Given the description of an element on the screen output the (x, y) to click on. 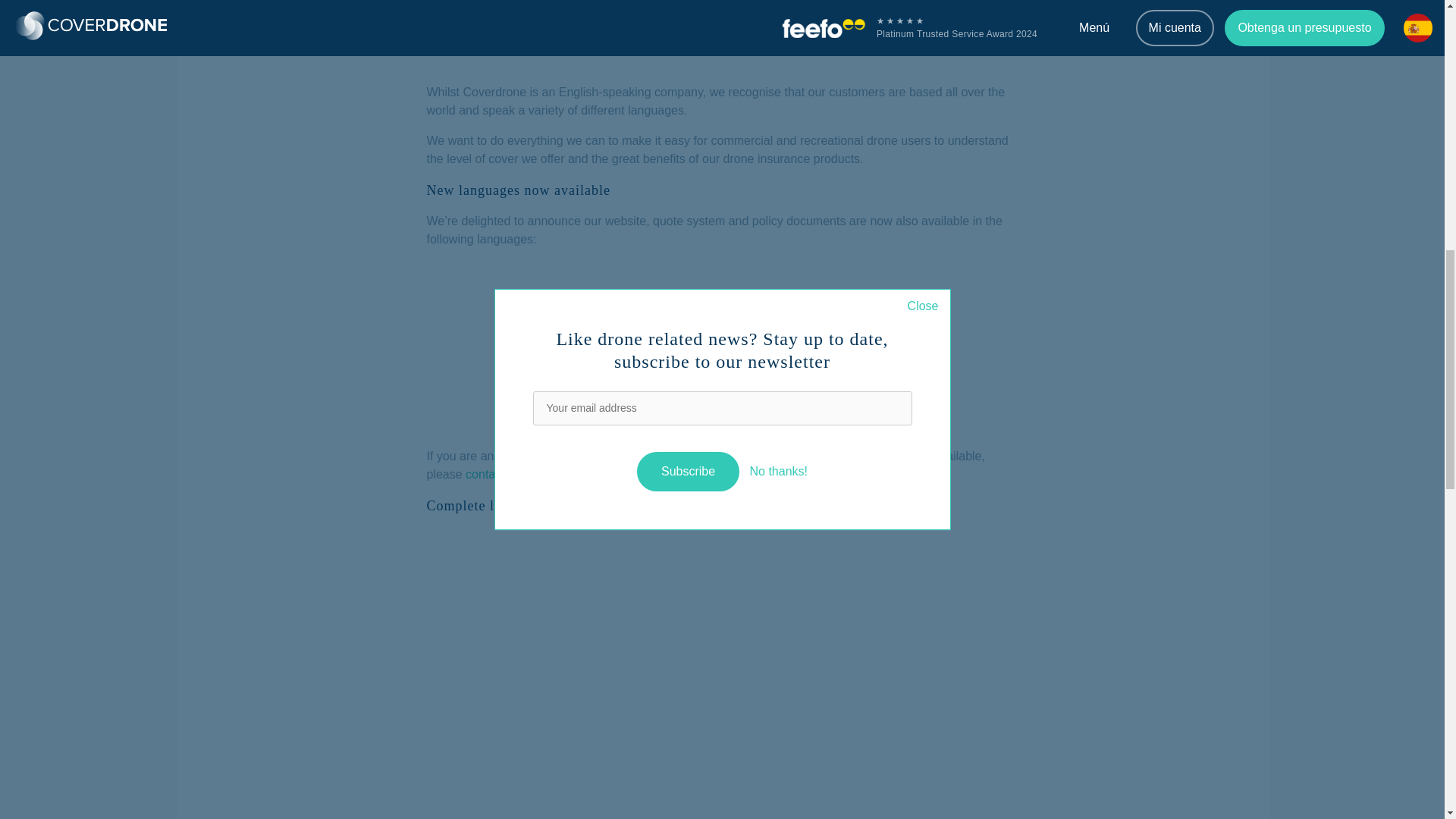
contact us (493, 474)
